Given the description of an element on the screen output the (x, y) to click on. 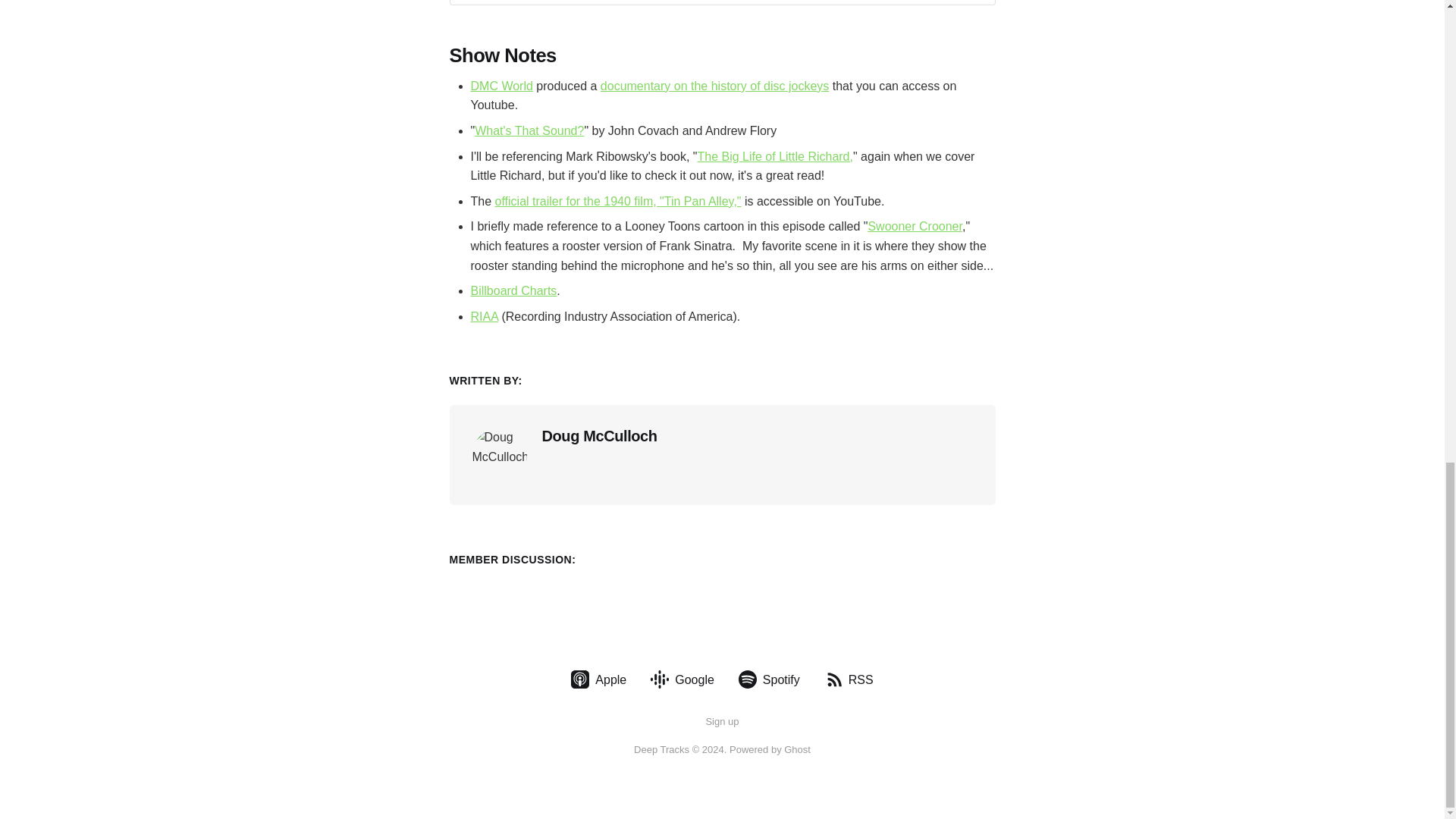
Swooner Crooner (914, 226)
RIAA (483, 316)
RSS (848, 679)
Sign up (721, 722)
Billboard Charts (513, 290)
official trailer for the 1940 film, "Tin Pan Alley," (618, 201)
What's That Sound? (528, 130)
The Big Life of Little Richard, (775, 155)
Ghost (797, 749)
documentary on the history of disc jockeys (713, 85)
